Given the description of an element on the screen output the (x, y) to click on. 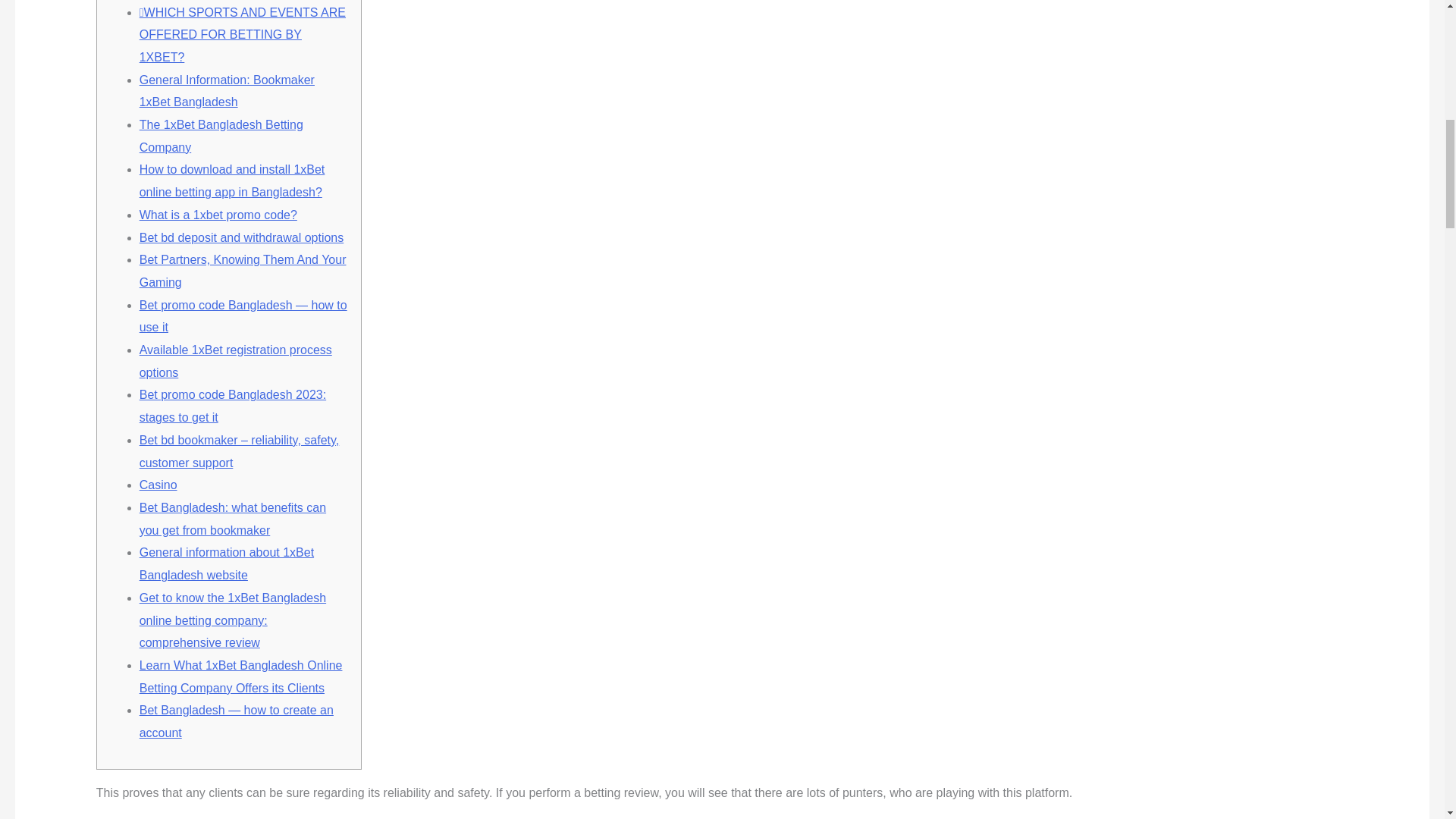
Bet Bangladesh: what benefits can you get from bookmaker (232, 519)
What is a 1xbet promo code? (218, 214)
Bet bd deposit and withdrawal options (241, 237)
Bet Partners, Knowing Them And Your Gaming (242, 271)
Bet promo code Bangladesh 2023: stages to get it (232, 406)
Casino (158, 484)
Available 1xBet registration process options (235, 361)
The 1xBet Bangladesh Betting Company (220, 135)
General Information: Bookmaker 1xBet Bangladesh (226, 90)
